Given the description of an element on the screen output the (x, y) to click on. 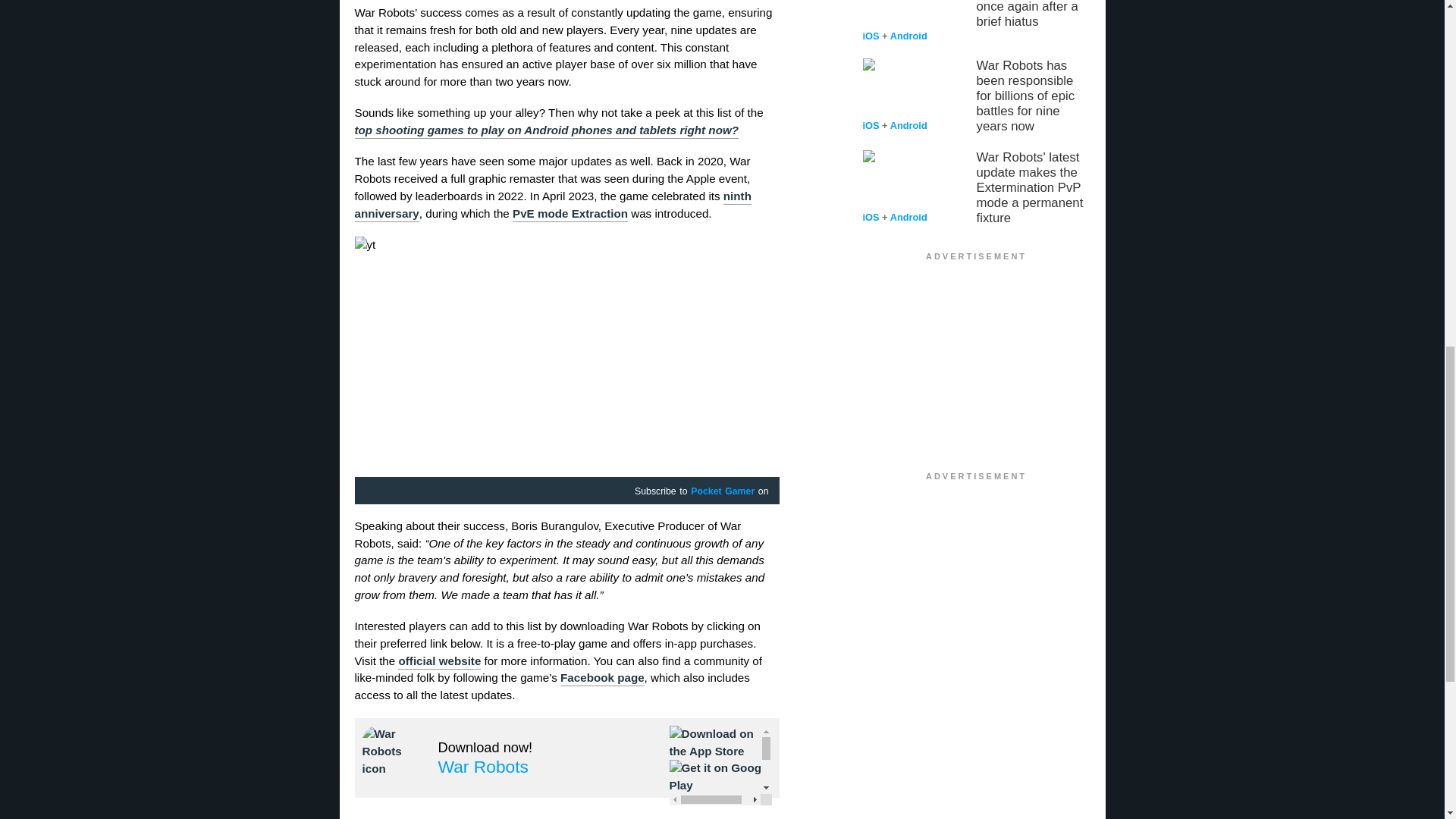
Facebook page (602, 678)
War Robots (483, 766)
PvE mode Extraction (569, 214)
Pocket Gamer (722, 491)
ninth anniversary (553, 205)
official website (438, 661)
